Given the description of an element on the screen output the (x, y) to click on. 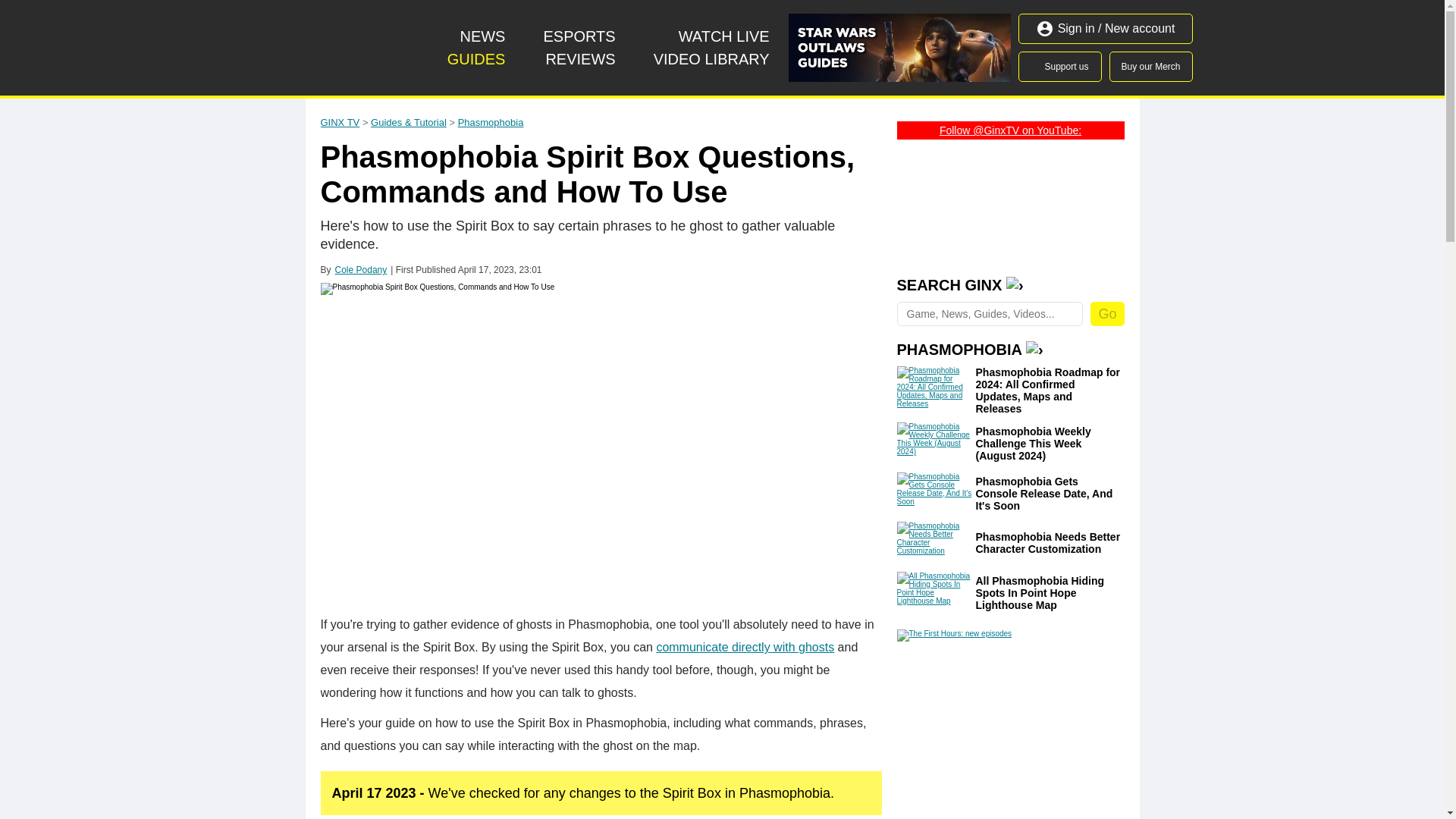
Star Wars Outlaws Guides Hub (899, 47)
Phasmophobia (491, 122)
Upcoming Games (724, 36)
All Esports (579, 36)
Buy our Merch (1151, 66)
Reviews (580, 58)
YouTube video player (1010, 203)
Sign in (1059, 66)
Upcoming Games (711, 58)
All posts (481, 36)
